Given the description of an element on the screen output the (x, y) to click on. 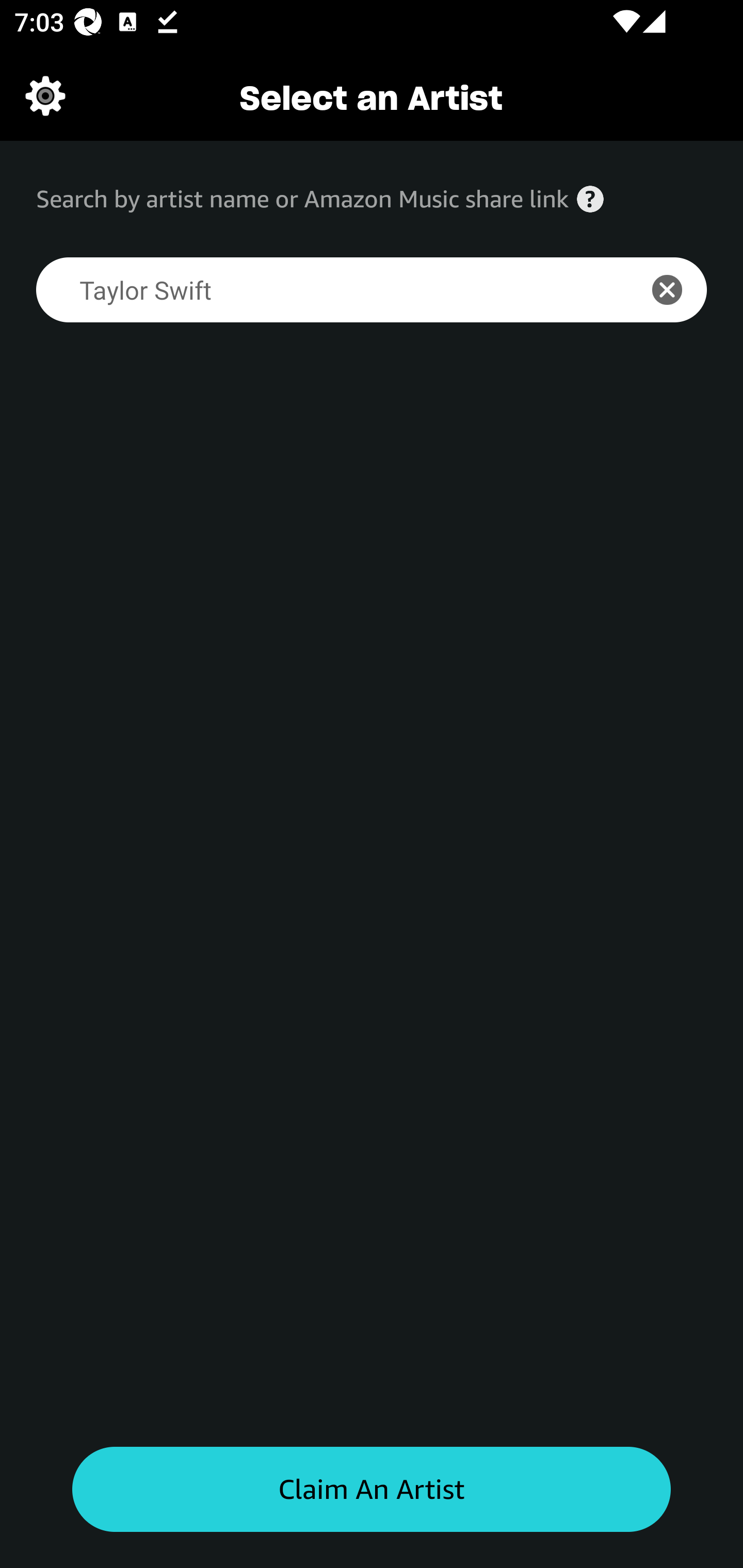
Help  icon (589, 199)
Taylor Swift Search for an artist search bar (324, 290)
 icon (677, 290)
Claim an artist button Claim An Artist (371, 1489)
